Given the description of an element on the screen output the (x, y) to click on. 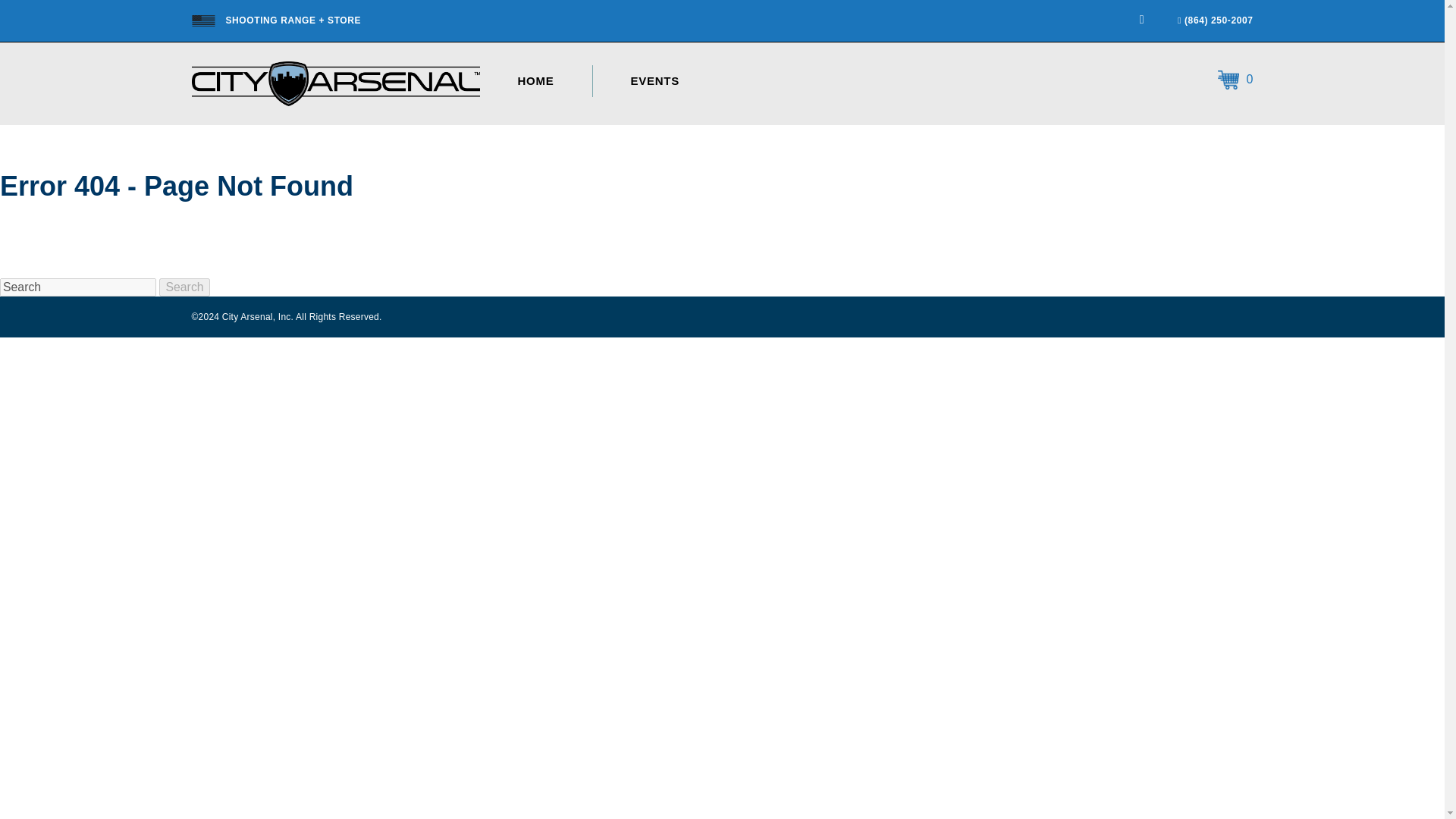
Search (77, 287)
Search (183, 287)
0 (1235, 81)
EVENTS (654, 81)
HOME (535, 81)
Search (183, 287)
Search (183, 287)
